Given the description of an element on the screen output the (x, y) to click on. 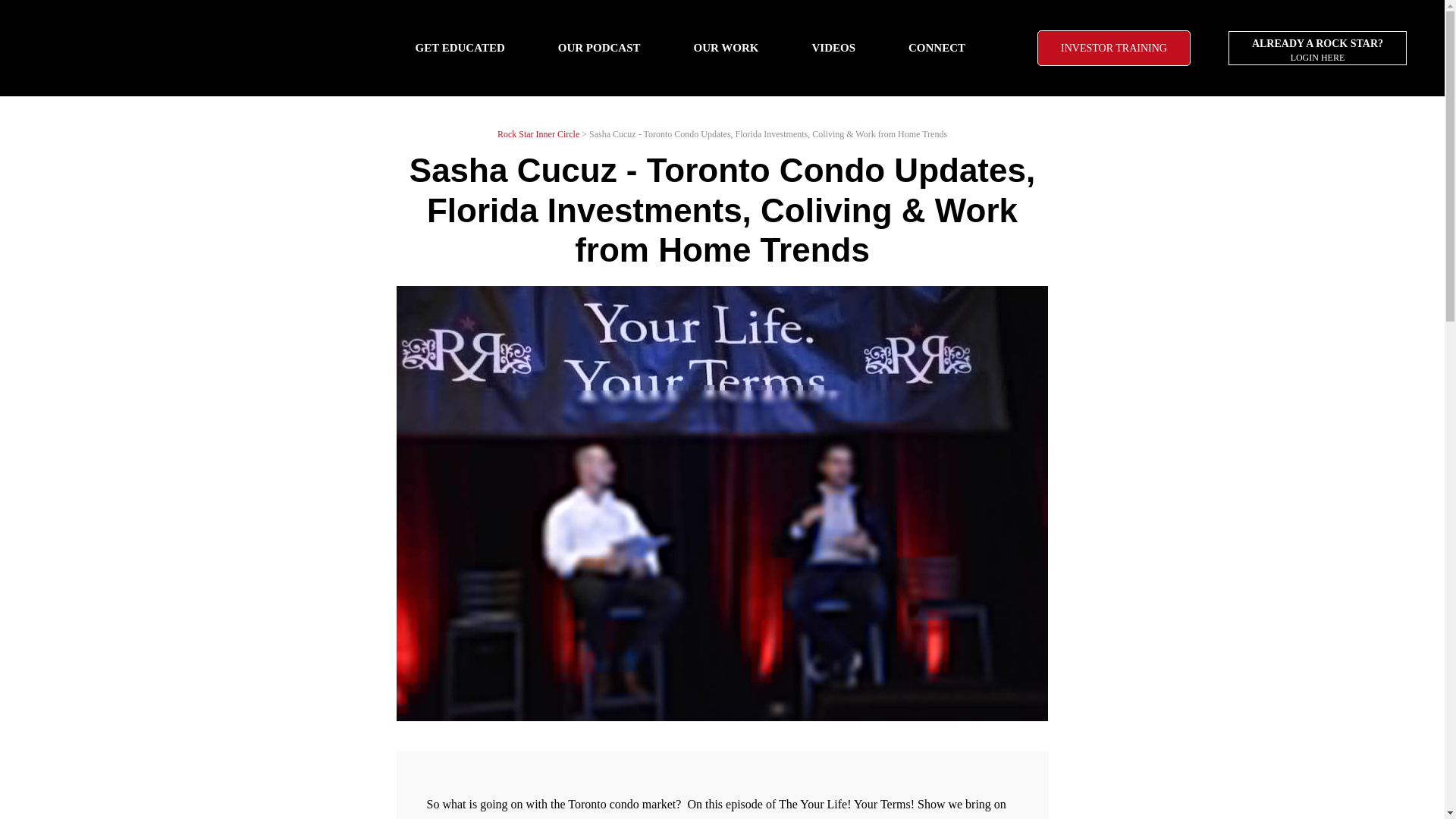
Go to Rock Star Inner Circle. (1317, 48)
OUR WORK (538, 133)
CONNECT (726, 47)
Rock Star Inner Circle (936, 47)
INVESTOR TRAINING (538, 133)
GET EDUCATED (1113, 48)
VIDEOS (459, 47)
OUR PODCAST (832, 47)
